Given the description of an element on the screen output the (x, y) to click on. 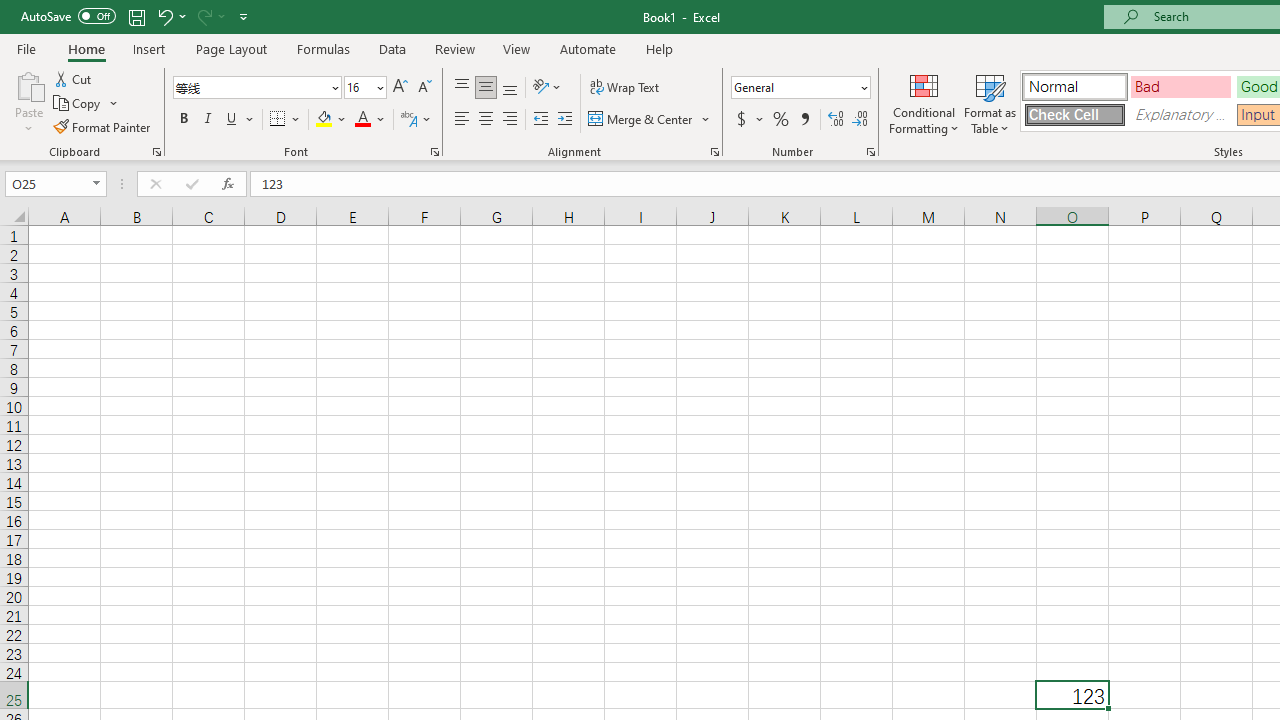
Bold (183, 119)
